Given the description of an element on the screen output the (x, y) to click on. 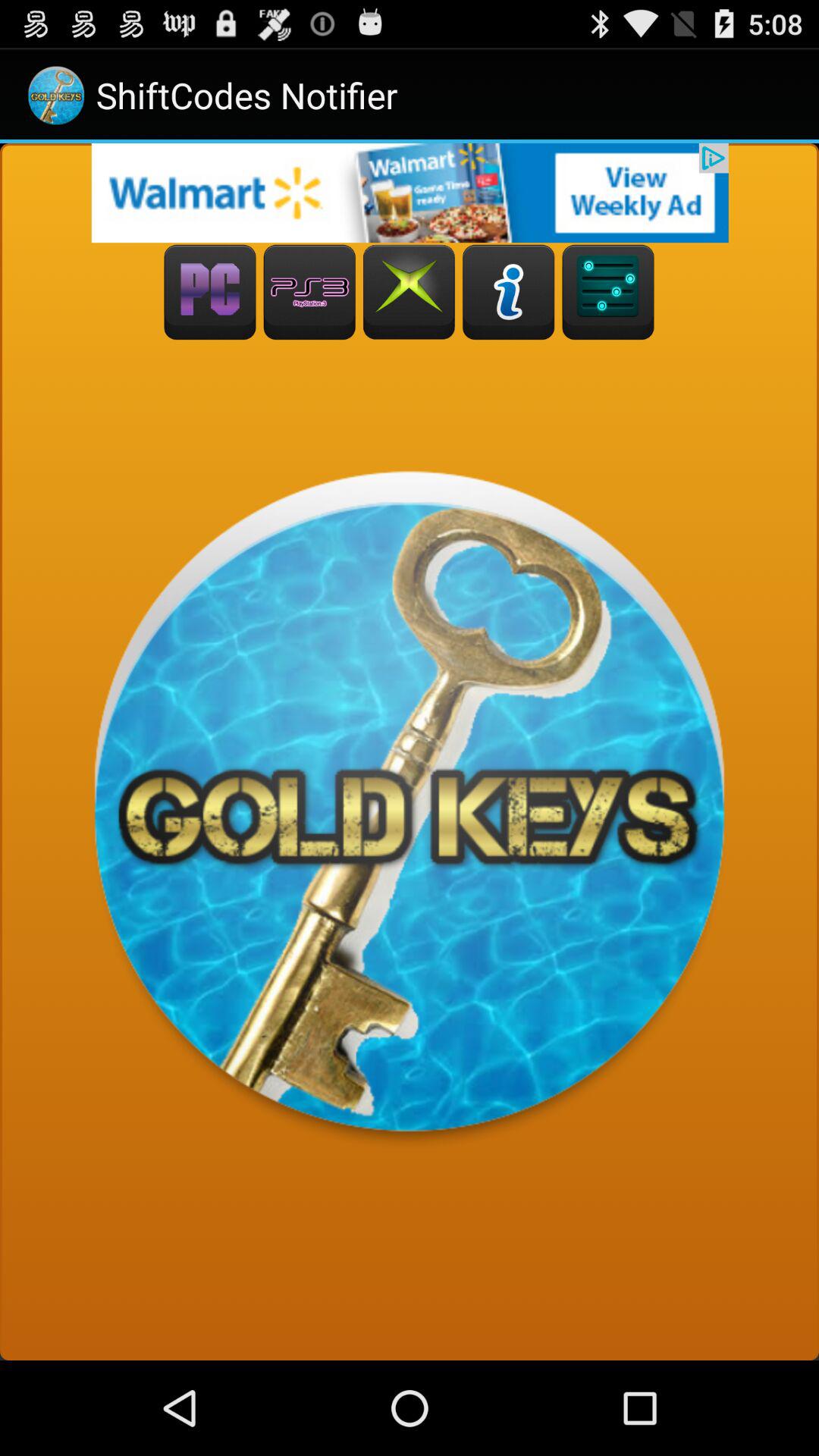
advertisement click (409, 192)
